Given the description of an element on the screen output the (x, y) to click on. 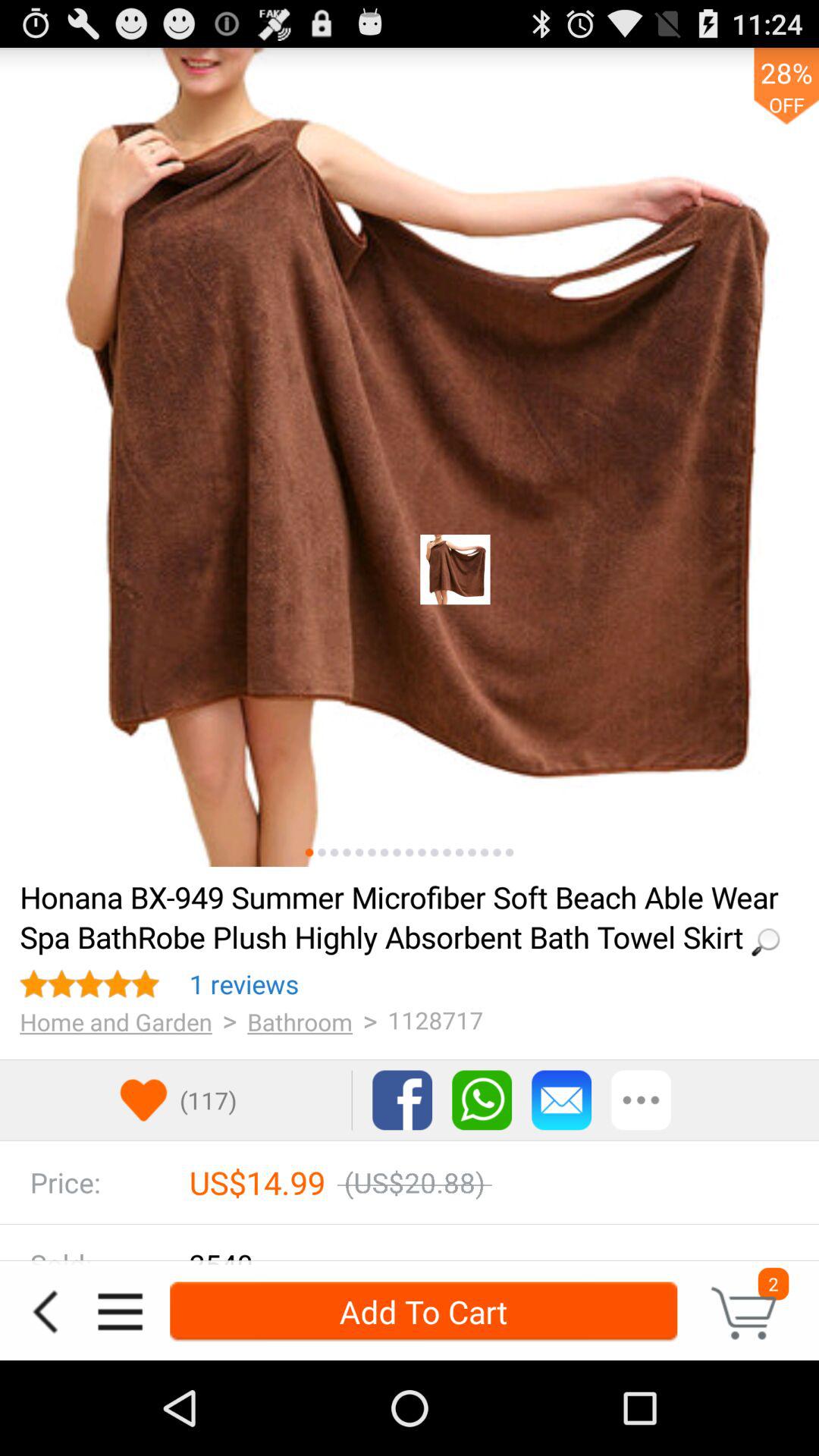
open icon above loading... item (334, 852)
